Given the description of an element on the screen output the (x, y) to click on. 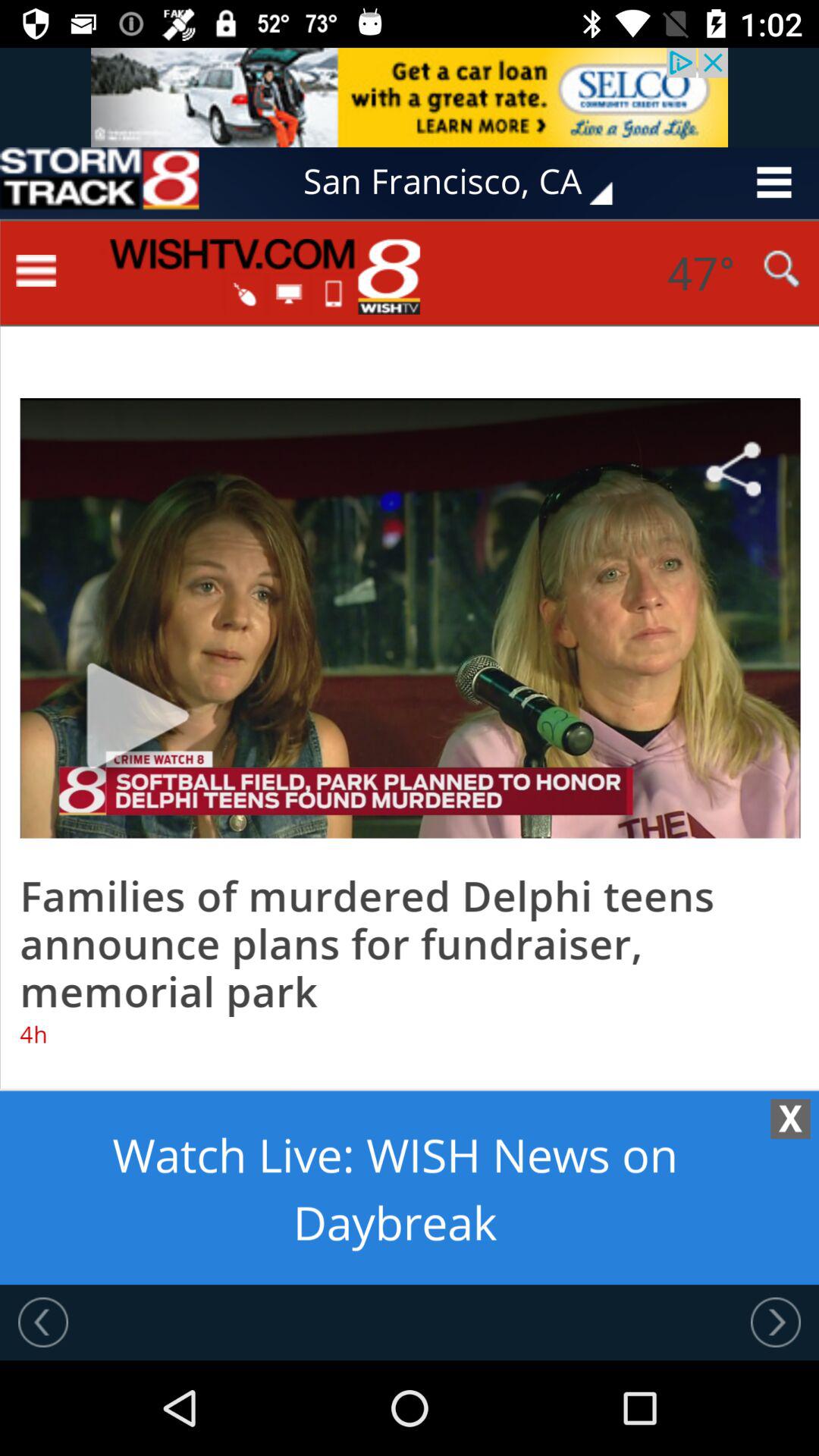
see an image (409, 97)
